Given the description of an element on the screen output the (x, y) to click on. 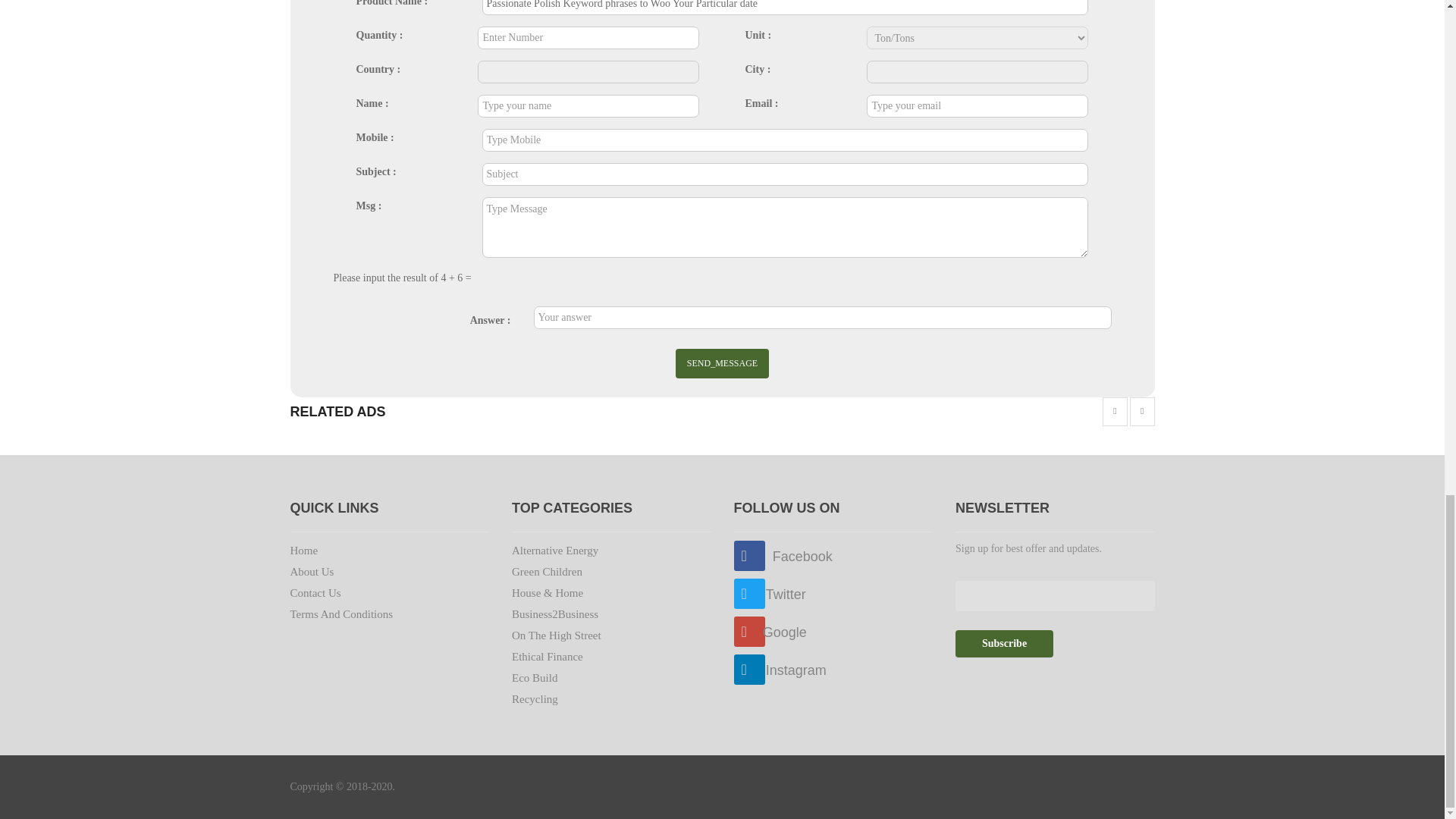
Subscribe (1003, 643)
